Given the description of an element on the screen output the (x, y) to click on. 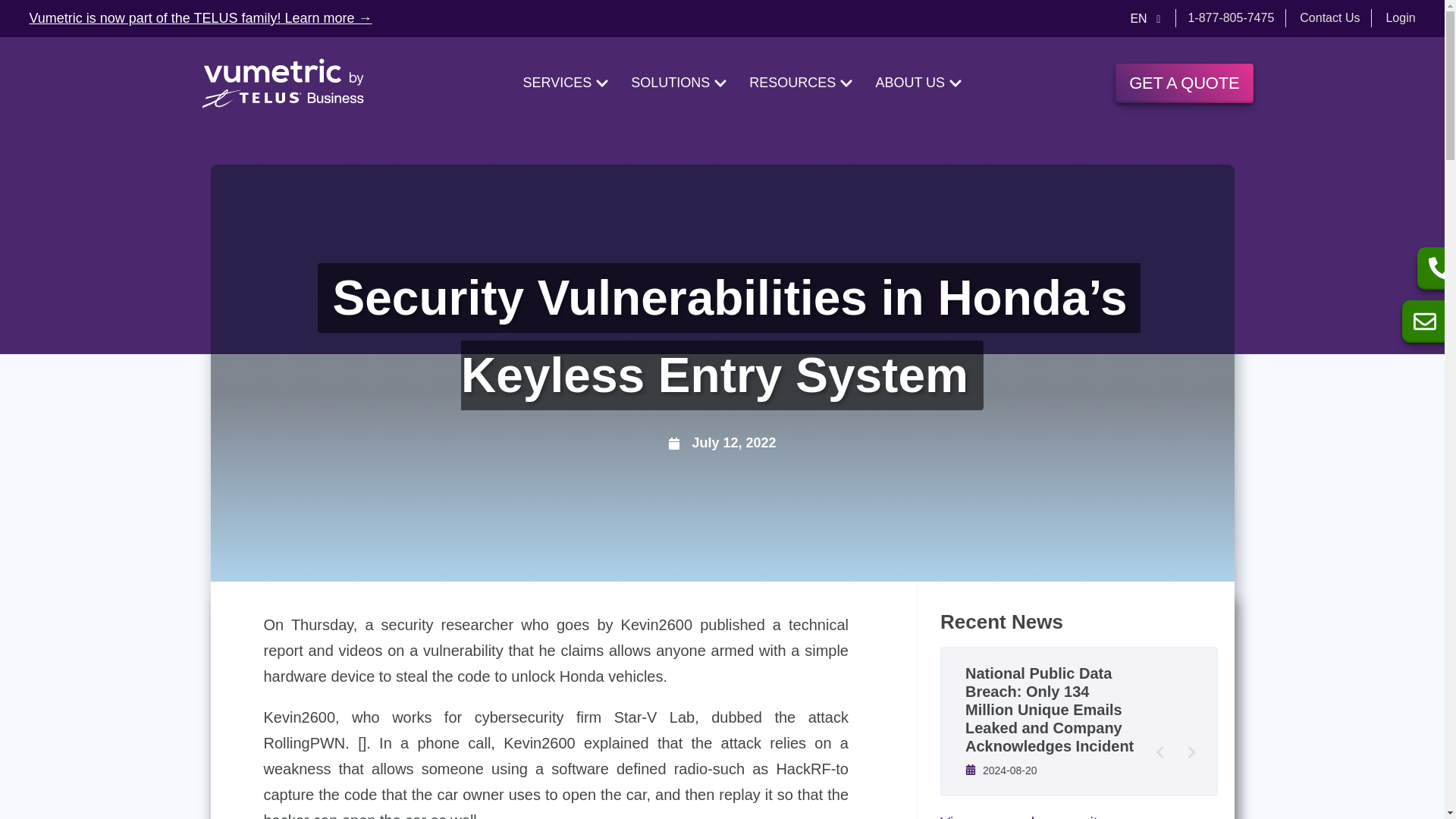
SERVICES (566, 82)
Login (1400, 17)
EN (1144, 18)
Contact Us (1329, 17)
SOLUTIONS (678, 82)
1-877-805-7475 (1231, 17)
